Given the description of an element on the screen output the (x, y) to click on. 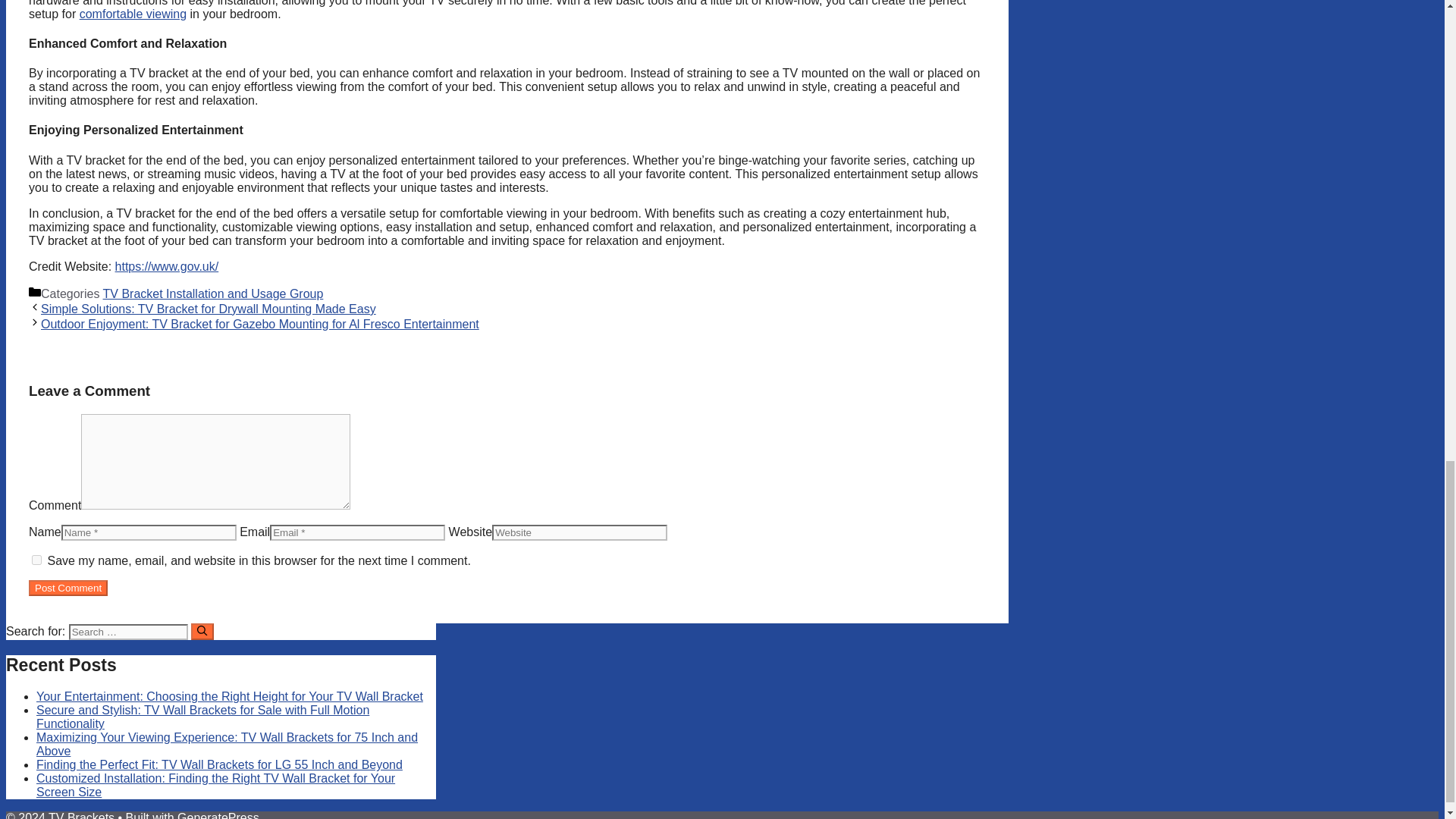
comfortable viewing (133, 13)
Simple Solutions: TV Bracket for Drywall Mounting Made Easy (207, 308)
Search for: (127, 631)
Post Comment (68, 587)
Post Comment (68, 587)
